Given the description of an element on the screen output the (x, y) to click on. 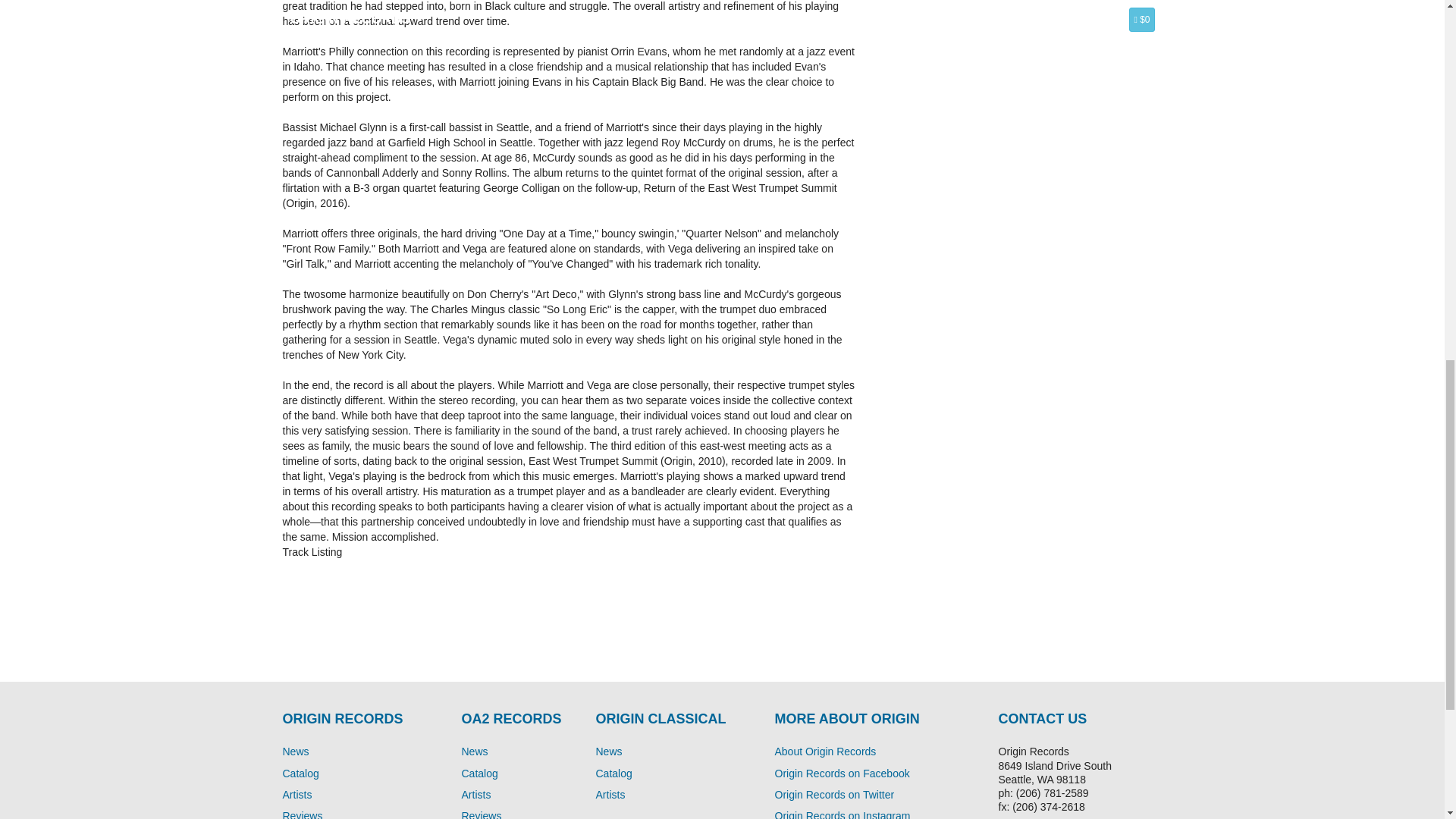
Artists (296, 794)
OA2 Records Reviews (480, 814)
Origin Records on Facebook (842, 773)
OA2 Records Artists (475, 794)
Artists (610, 794)
Reviews (480, 814)
OA2 Records Catalog (613, 773)
OA2 Records Artists (610, 794)
Origin Records Reviews (301, 814)
OA2 Records Catalog (479, 773)
